Given the description of an element on the screen output the (x, y) to click on. 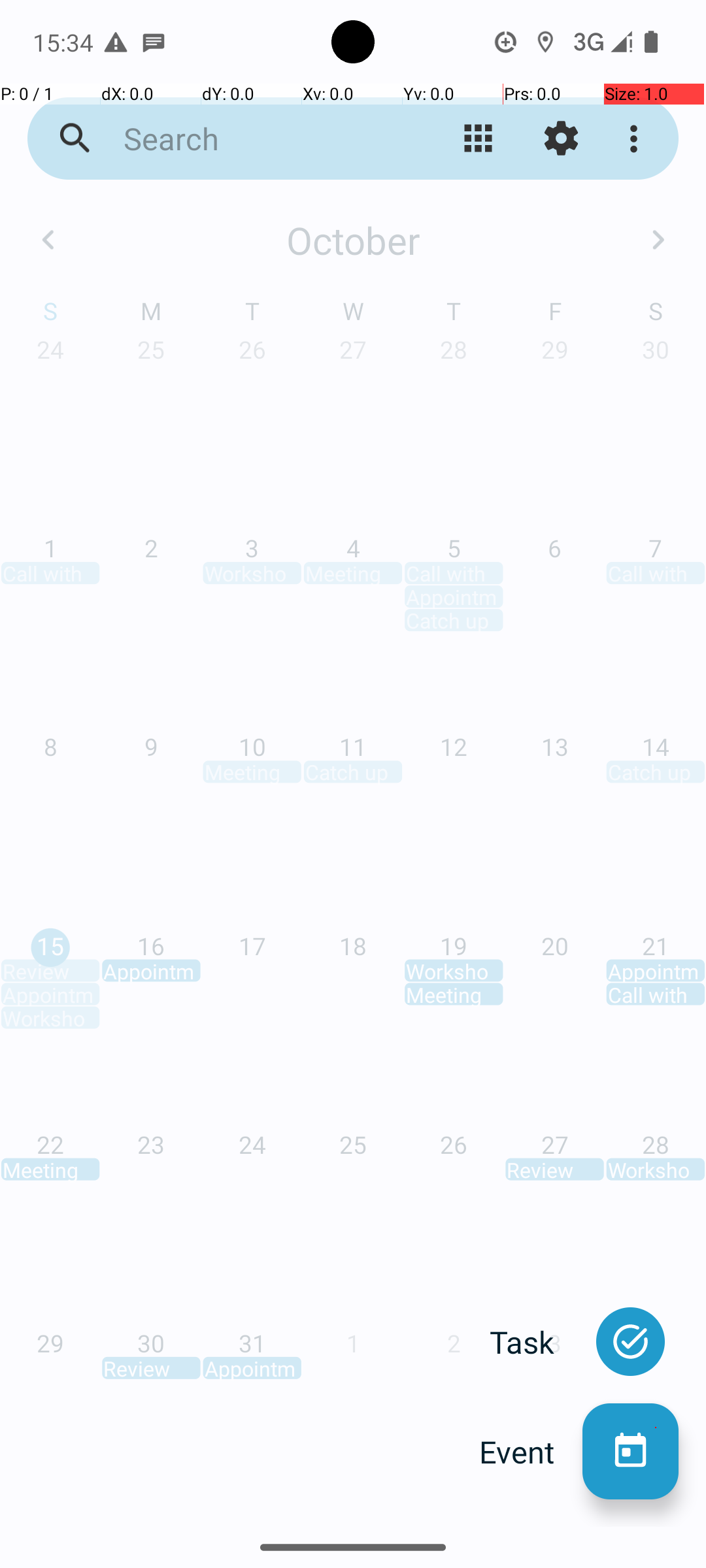
Task Element type: android.widget.TextView (535, 1341)
Event Element type: android.widget.TextView (530, 1451)
